Given the description of an element on the screen output the (x, y) to click on. 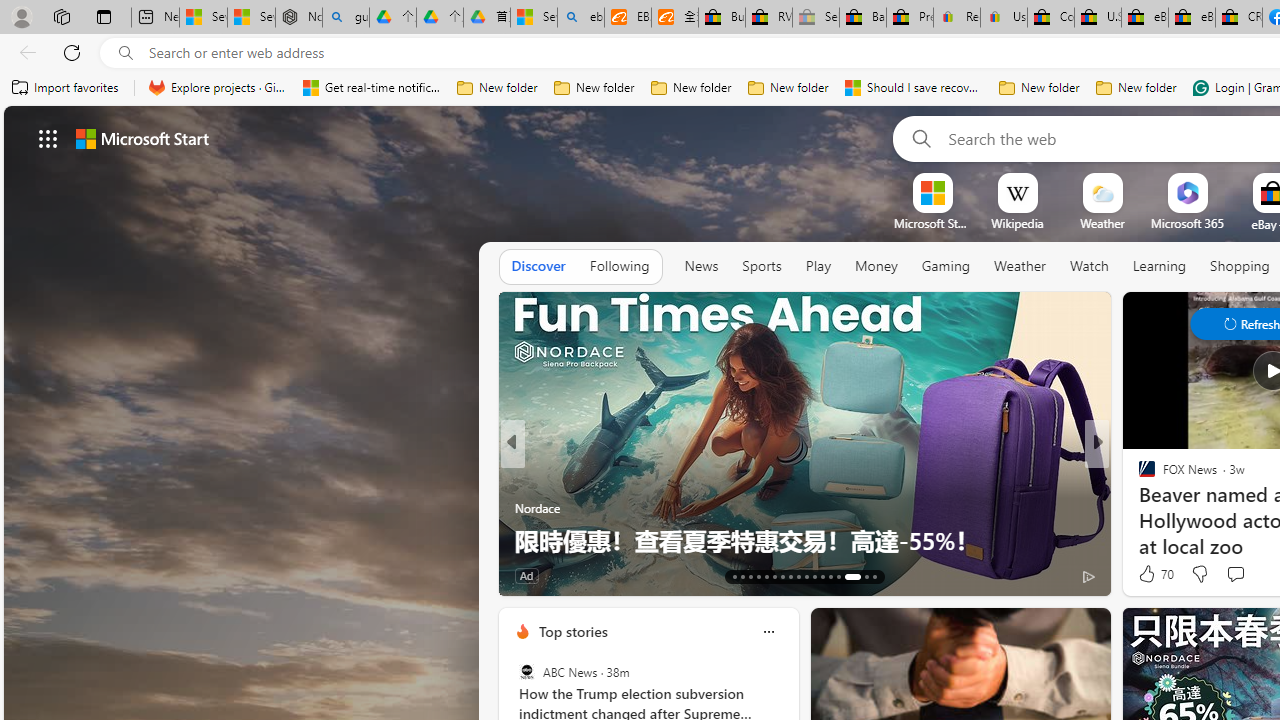
News (701, 265)
To get missing image descriptions, open the context menu. (932, 192)
AutomationID: tab-22 (806, 576)
Ad Choice (1087, 575)
AutomationID: tab-13 (733, 576)
RV, Trailer & Camper Steps & Ladders for sale | eBay (769, 17)
AutomationID: tab-24 (821, 576)
Sell worldwide with eBay - Sleeping (815, 17)
70 Like (1154, 574)
Play (817, 265)
AutomationID: tab-18 (774, 576)
AutomationID: tab-33 (852, 576)
Learning (1159, 265)
